Given the description of an element on the screen output the (x, y) to click on. 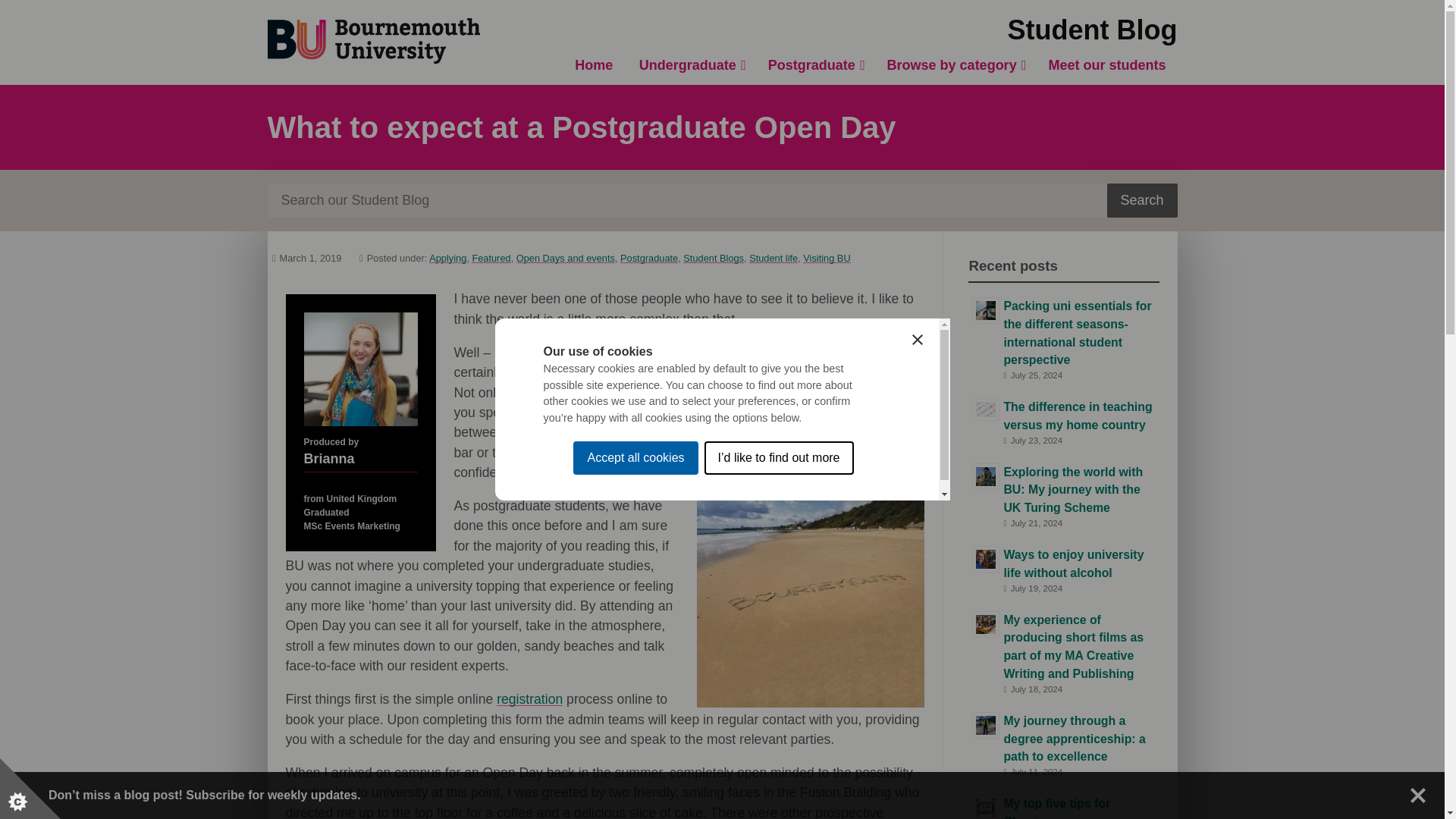
Student Blog (1092, 29)
Home (593, 65)
Postgraduate (814, 65)
Search (1141, 200)
Undergraduate (689, 65)
Bournemouth University (372, 40)
Close (1417, 794)
Accept all cookies (635, 657)
Bournemouth University home page (372, 40)
